Given the description of an element on the screen output the (x, y) to click on. 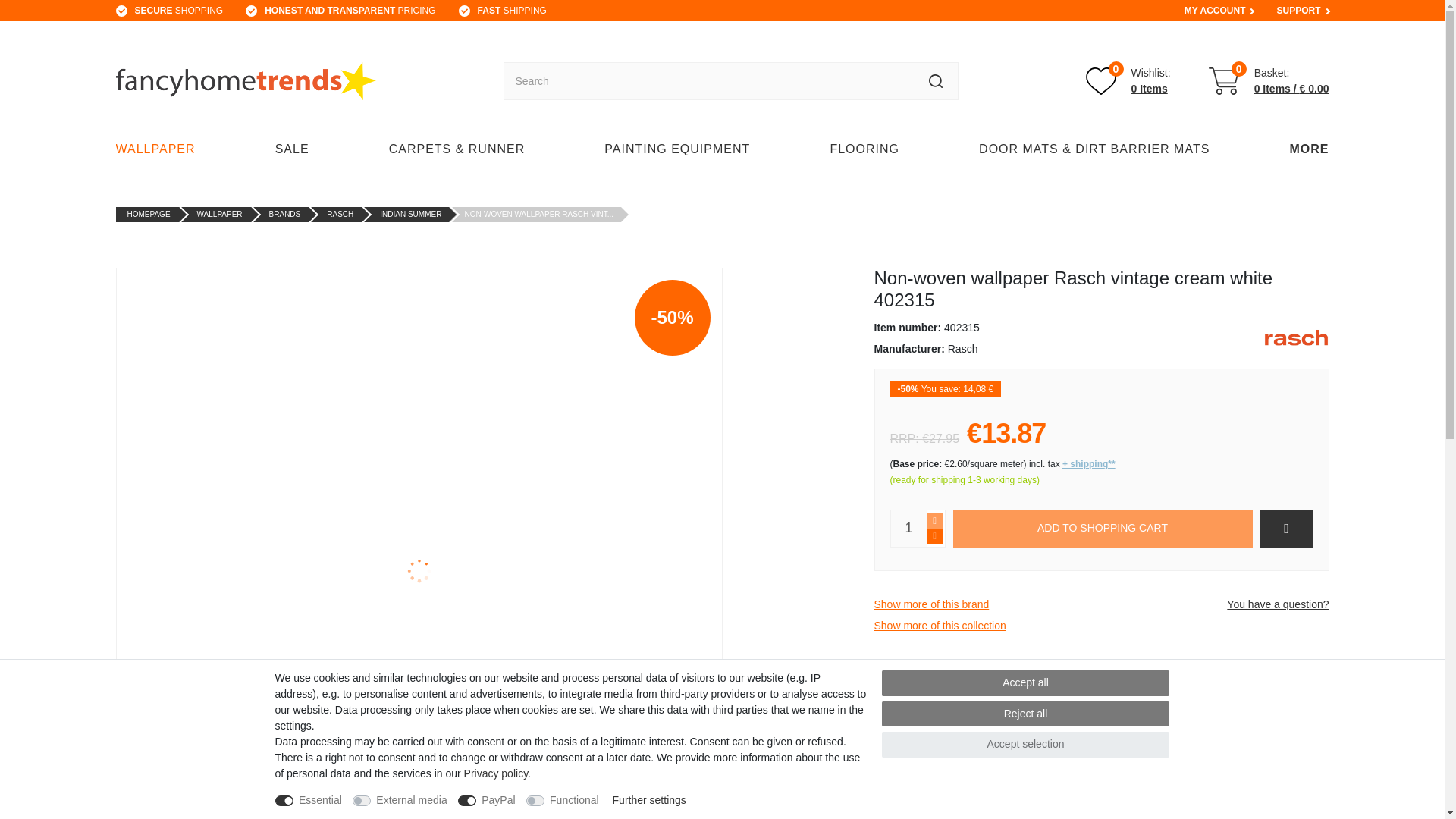
WALLPAPER (159, 148)
MY ACCOUNT (1215, 10)
Maximum order quantity:  (934, 520)
1 (907, 528)
INDIAN SUMMER (410, 214)
BRANDS (285, 214)
Show more of this collection (939, 625)
FAST SHIPPING (1128, 81)
ADD TO SHOPPING CART (512, 10)
